Given the description of an element on the screen output the (x, y) to click on. 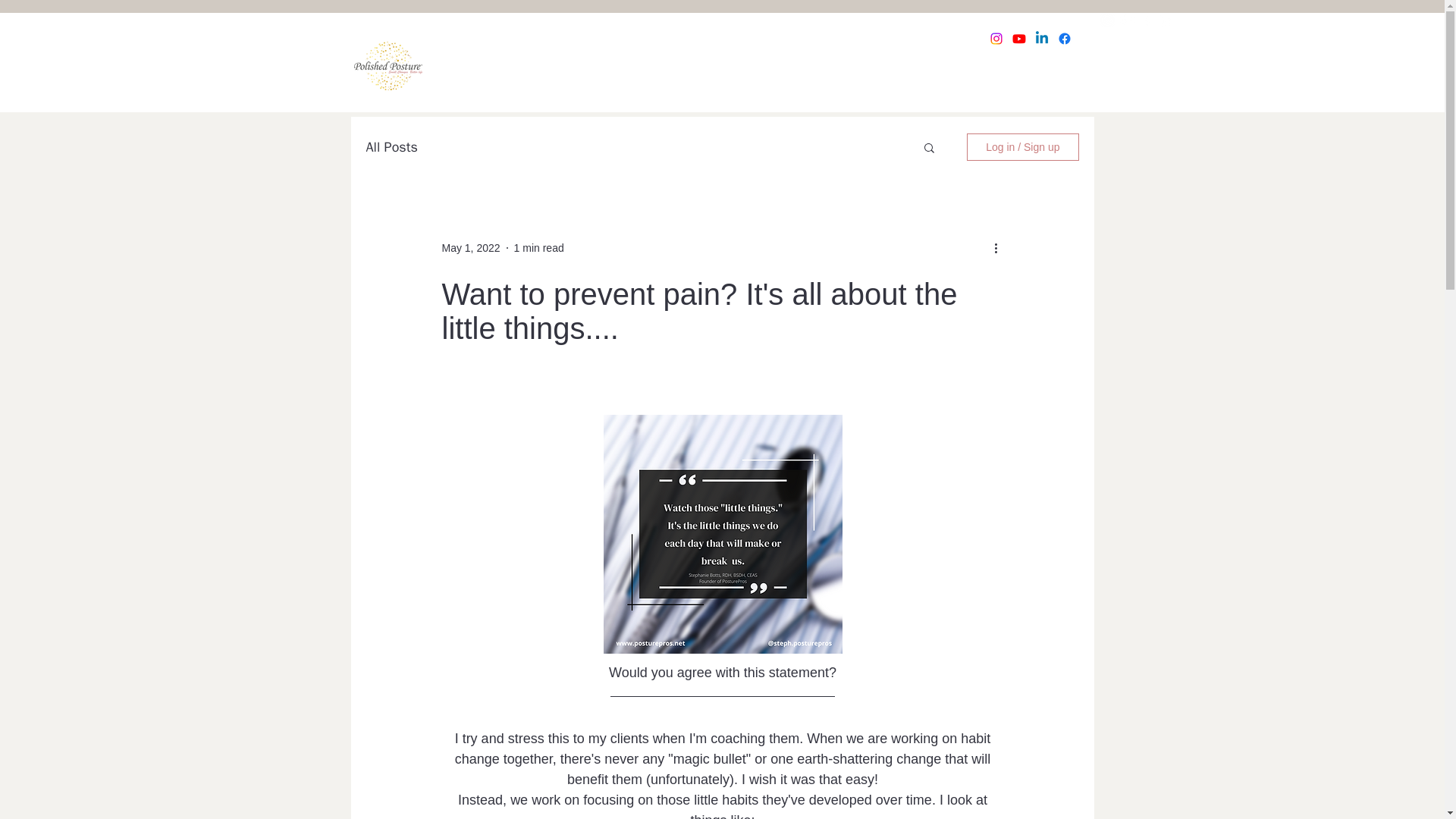
May 1, 2022 (470, 246)
1 min read (538, 246)
All Posts (390, 147)
